Given the description of an element on the screen output the (x, y) to click on. 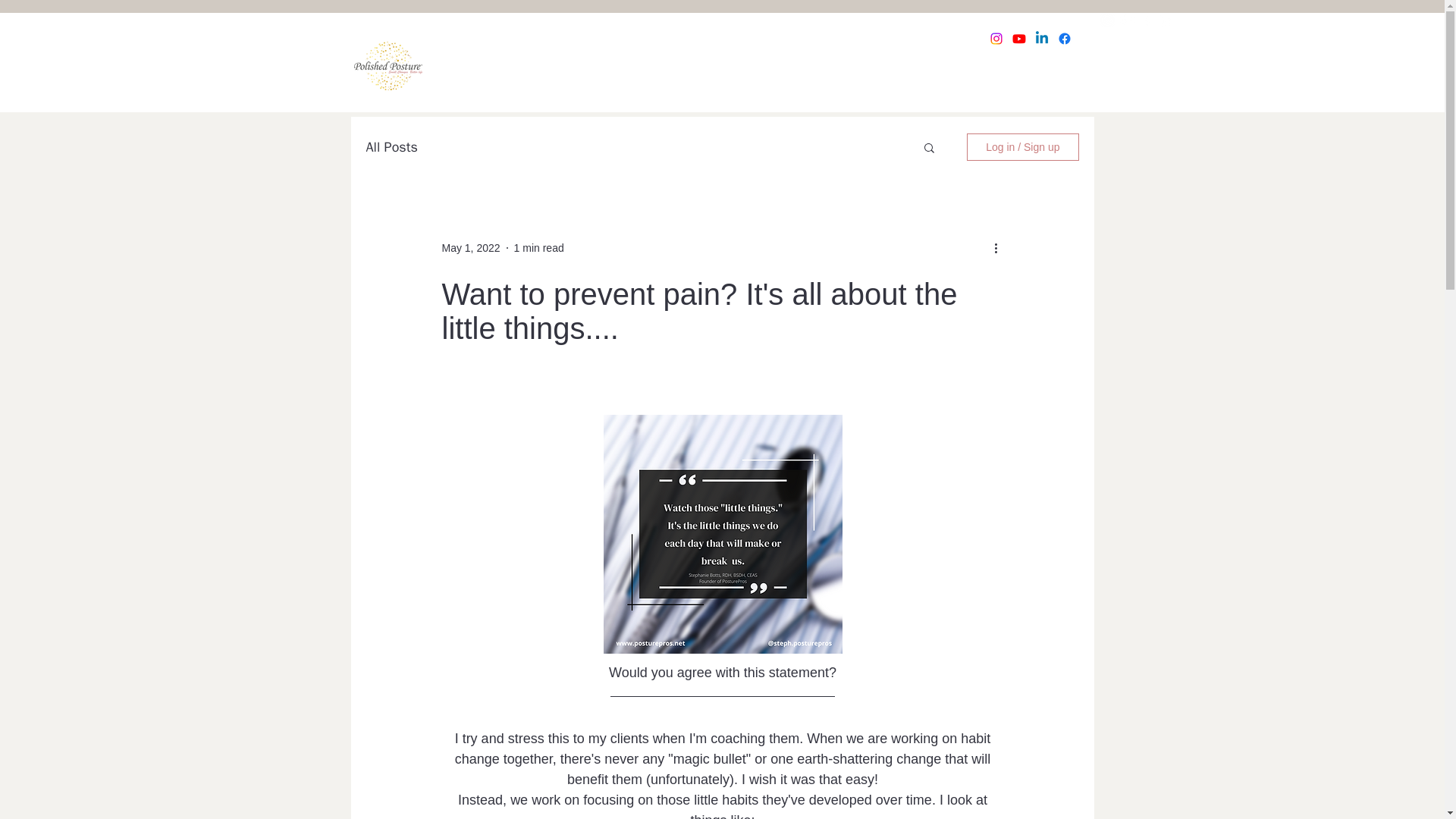
May 1, 2022 (470, 246)
1 min read (538, 246)
All Posts (390, 147)
